Given the description of an element on the screen output the (x, y) to click on. 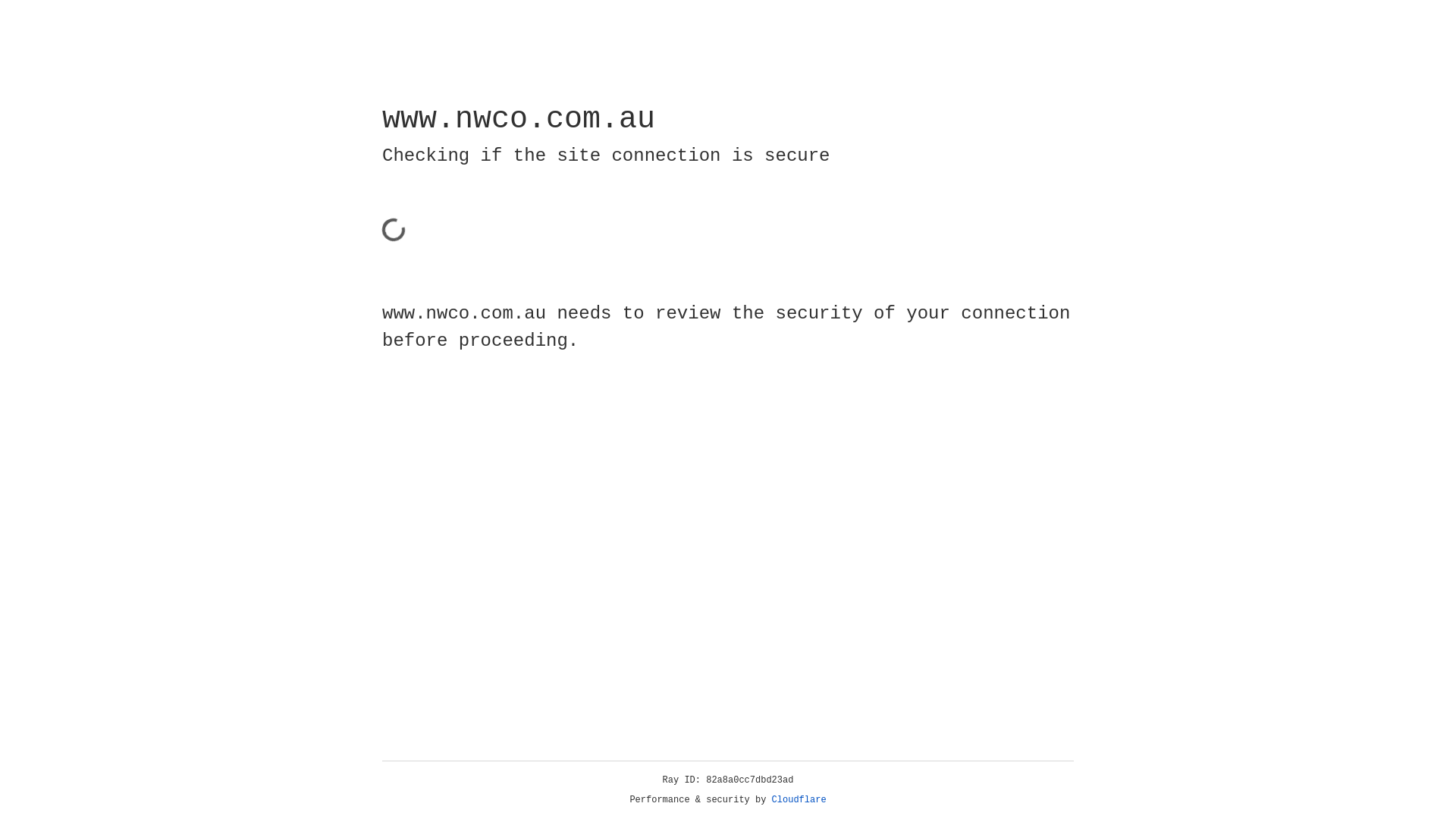
Cloudflare Element type: text (798, 799)
